Given the description of an element on the screen output the (x, y) to click on. 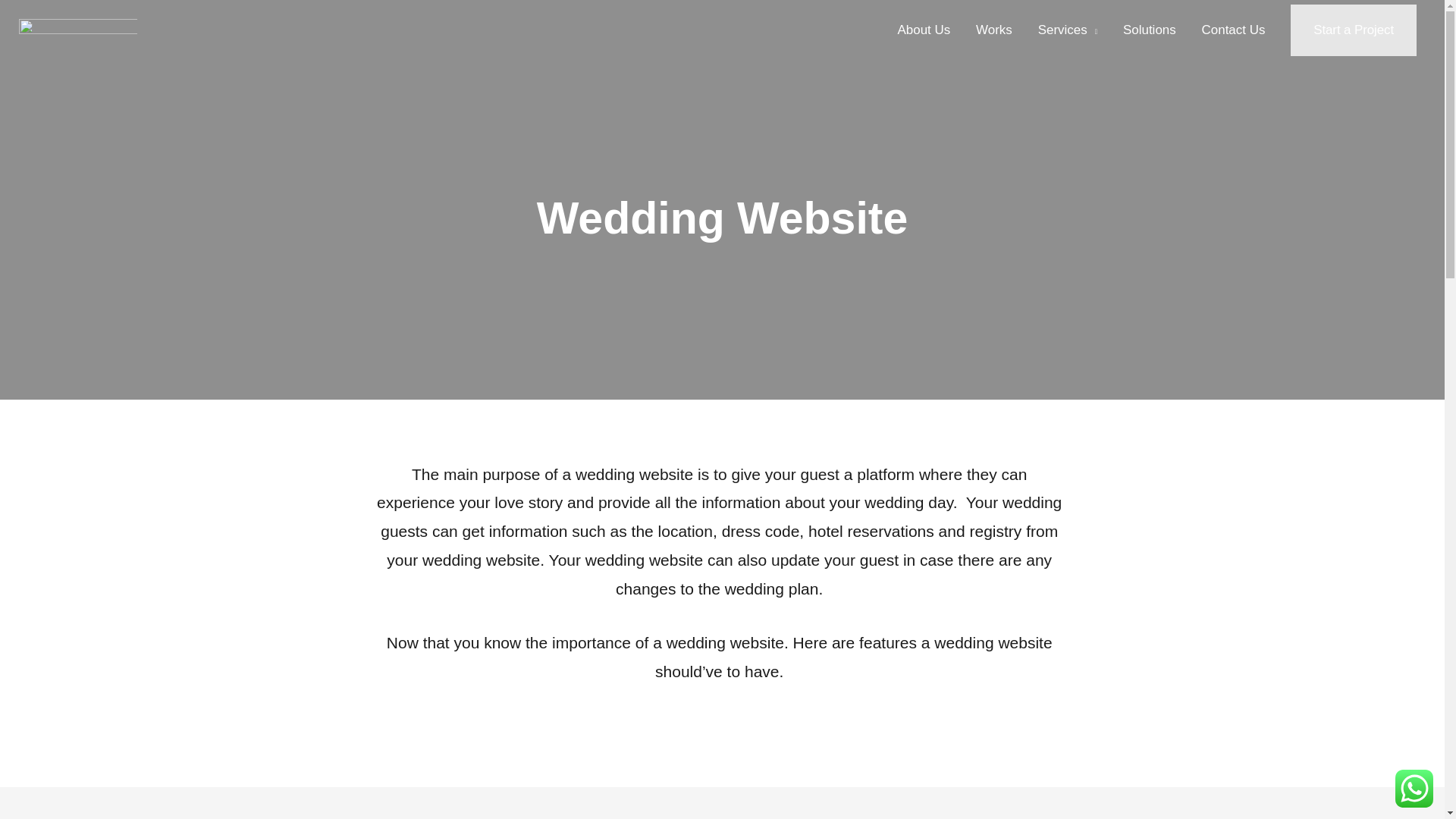
Services (1067, 30)
Start a Project (1353, 29)
Contact Us (1233, 30)
Solutions (1149, 30)
About Us (924, 30)
Works (993, 30)
